Given the description of an element on the screen output the (x, y) to click on. 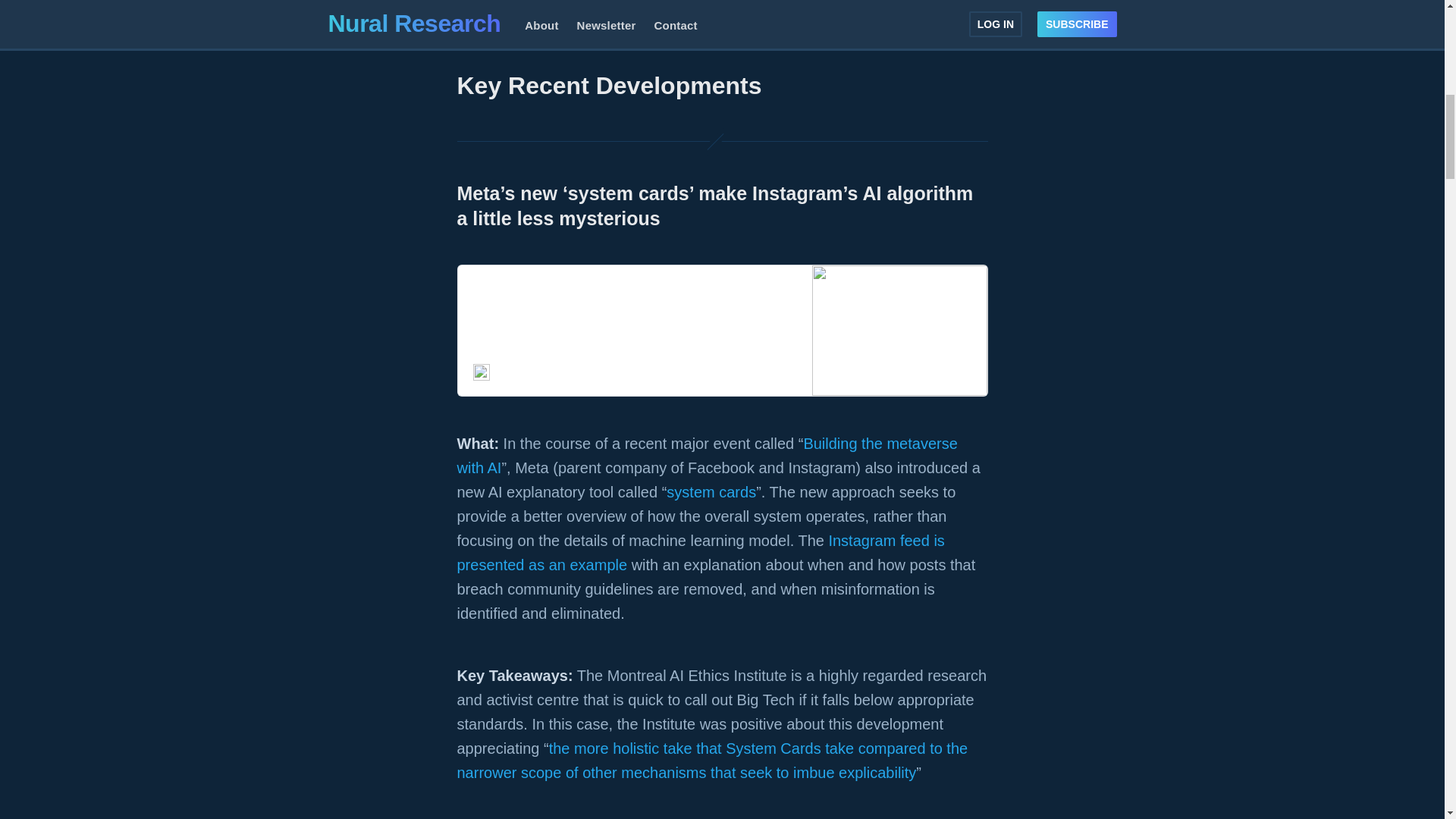
Building the metaverse with AI (706, 454)
system cards (710, 492)
Instagram feed is presented as an example (700, 552)
